Given the description of an element on the screen output the (x, y) to click on. 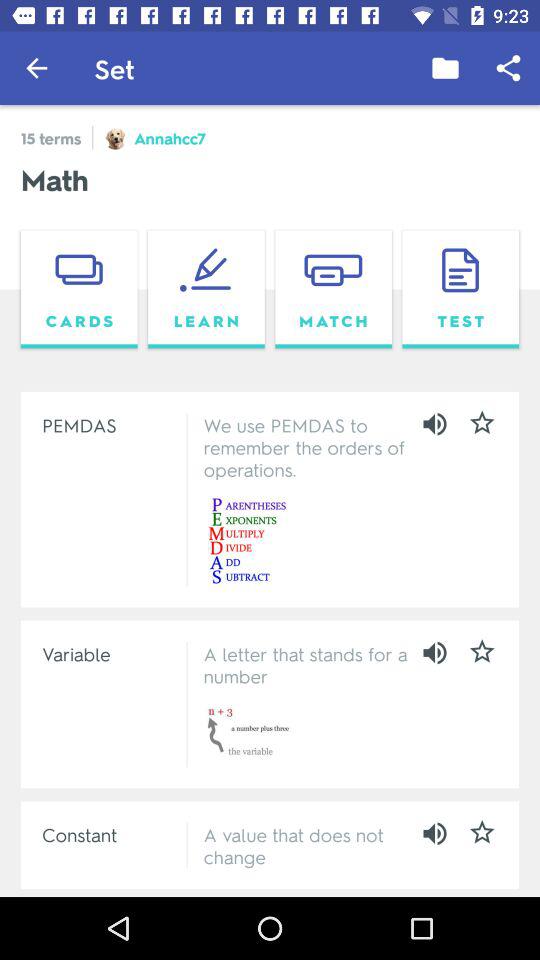
turn on item below variable icon (110, 833)
